Given the description of an element on the screen output the (x, y) to click on. 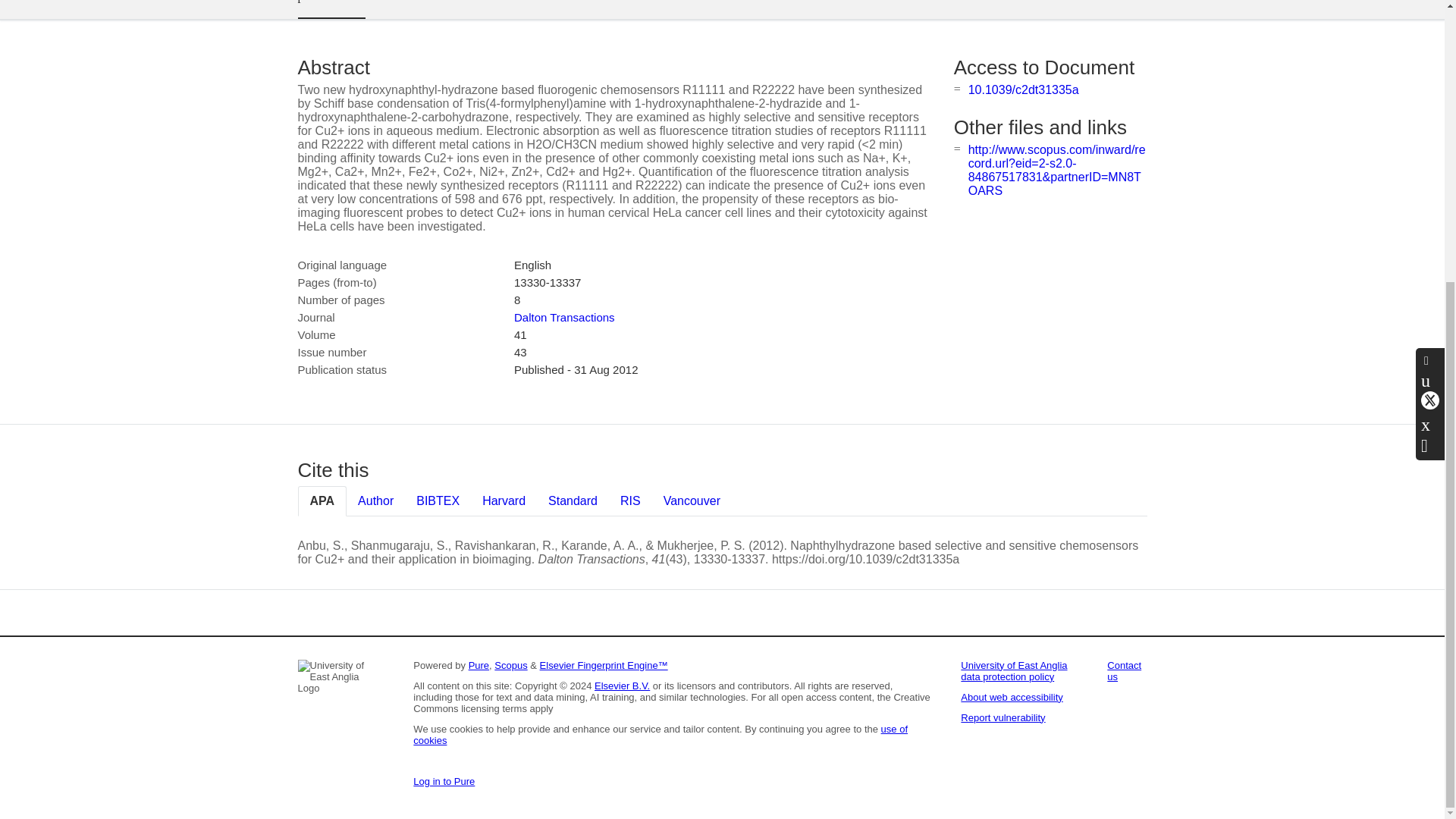
Contact us (1123, 671)
About web accessibility (1011, 696)
Pure (478, 665)
Scopus (511, 665)
Elsevier B.V. (621, 685)
Report vulnerability (1002, 717)
Log in to Pure (443, 781)
University of East Anglia data protection policy (1013, 671)
use of cookies (660, 734)
Dalton Transactions (563, 317)
Overview (331, 9)
